Given the description of an element on the screen output the (x, y) to click on. 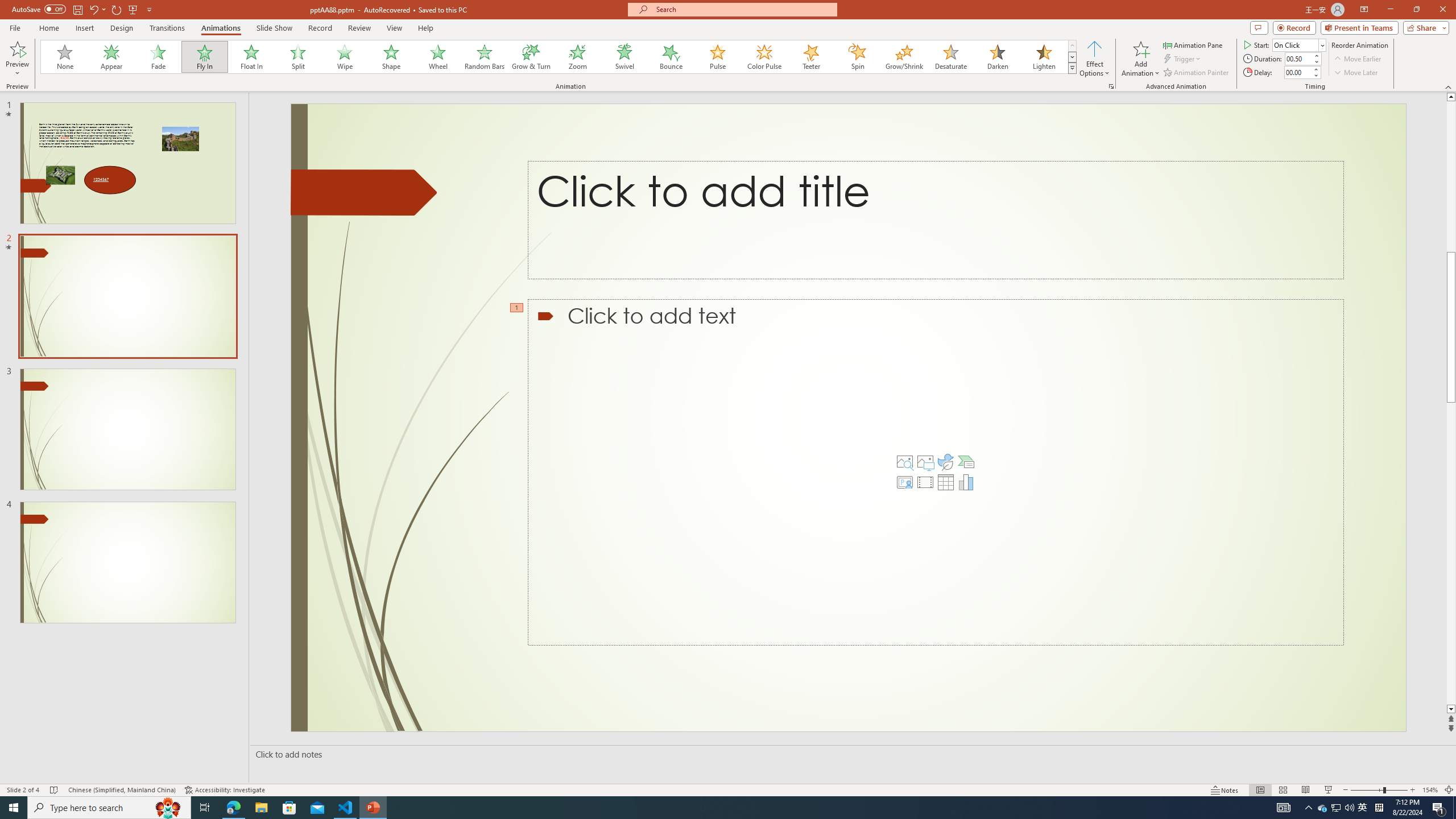
Lighten (1043, 56)
None (65, 56)
Bounce (670, 56)
Animation Delay (1297, 72)
